Given the description of an element on the screen output the (x, y) to click on. 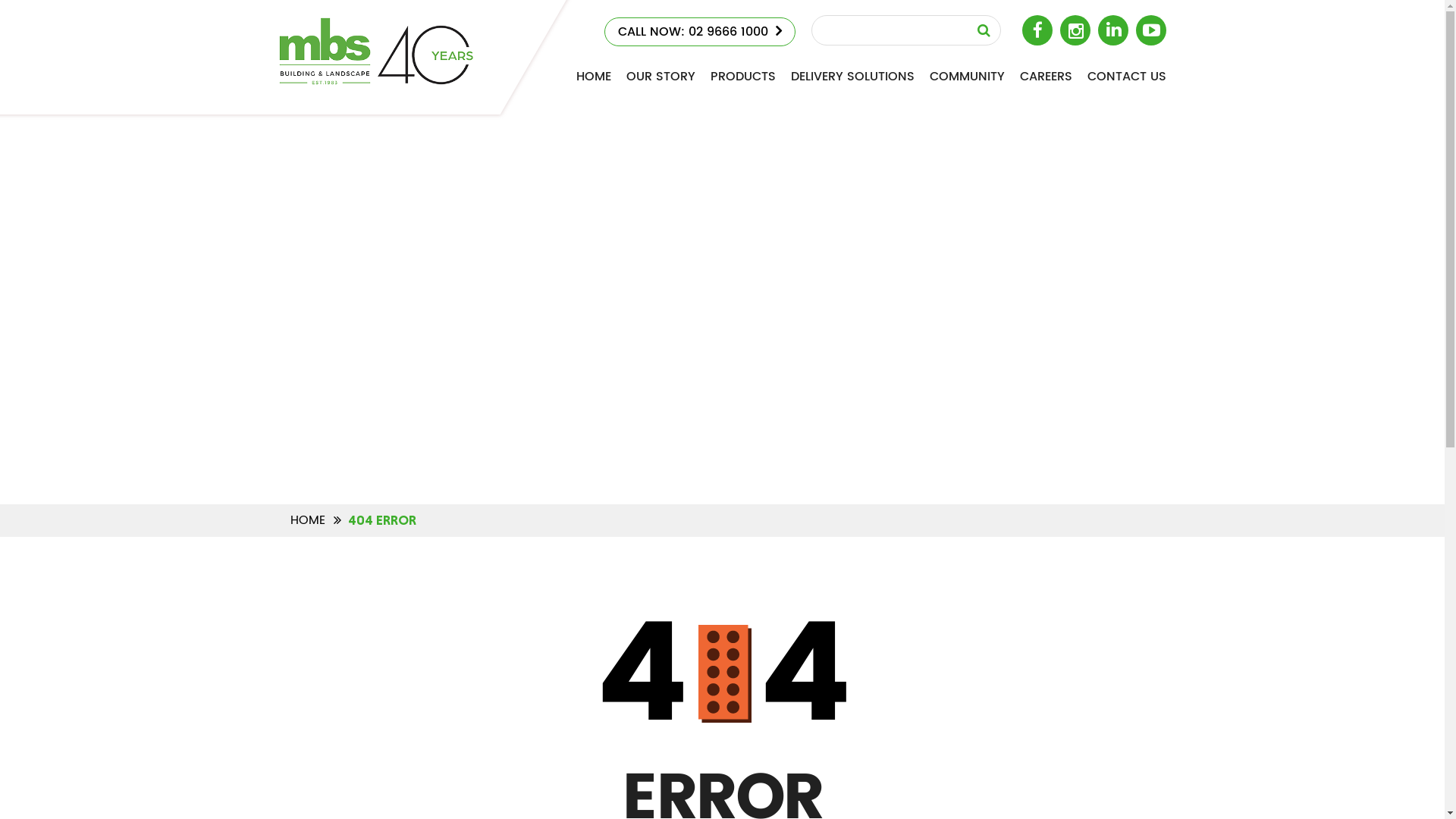
OUR STORY Element type: text (660, 76)
COMMUNITY Element type: text (966, 76)
DELIVERY SOLUTIONS Element type: text (851, 76)
CAREERS Element type: text (1045, 76)
HOME Element type: text (306, 520)
PRODUCTS Element type: text (742, 76)
CONTACT US Element type: text (1126, 76)
HOME Element type: text (593, 76)
CALL NOW: 02 9666 1000 Element type: text (698, 31)
